Given the description of an element on the screen output the (x, y) to click on. 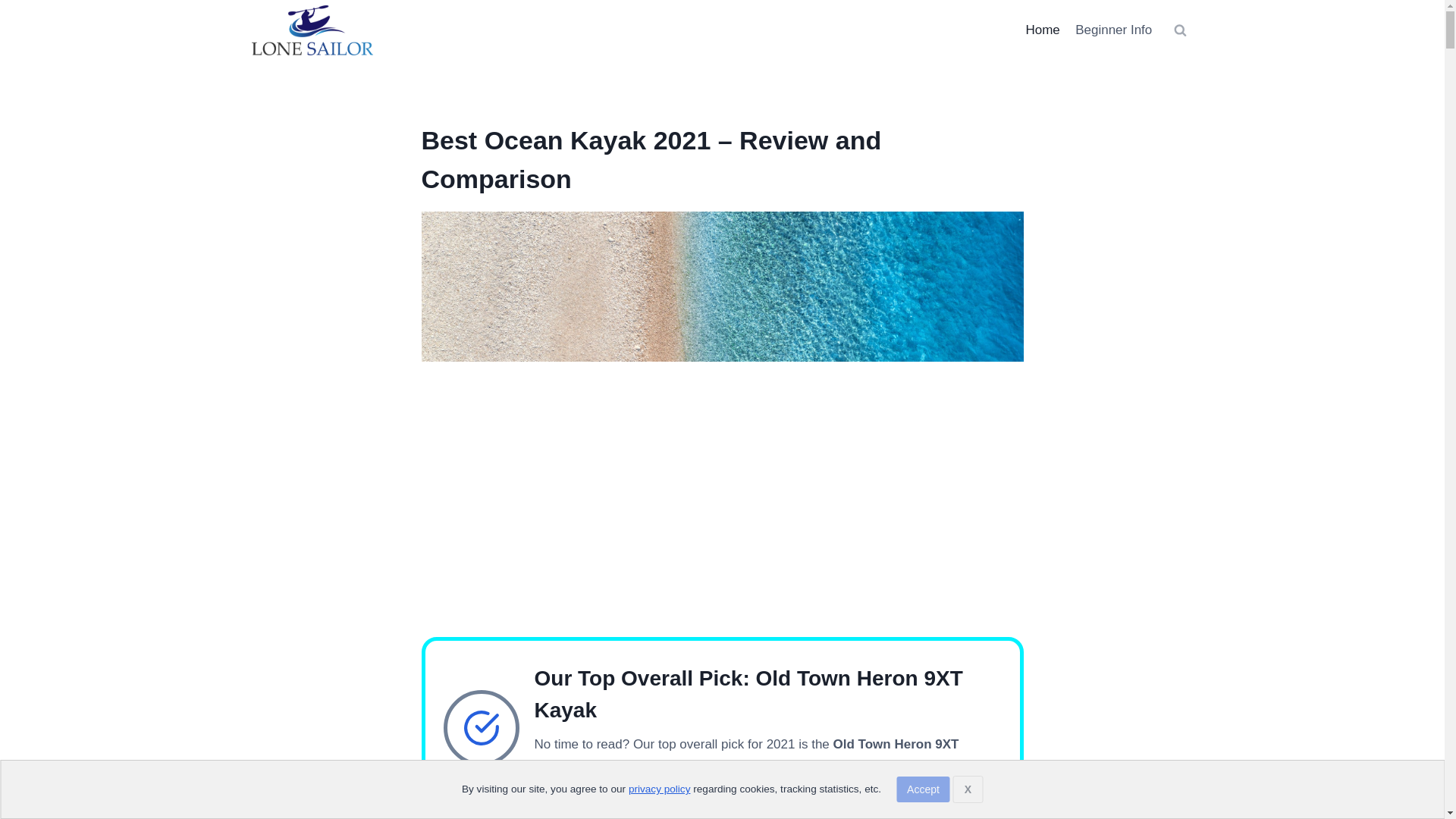
privacy policy (659, 788)
X (967, 789)
Home (1042, 30)
Beginner Info (1113, 30)
Accept (923, 789)
